Given the description of an element on the screen output the (x, y) to click on. 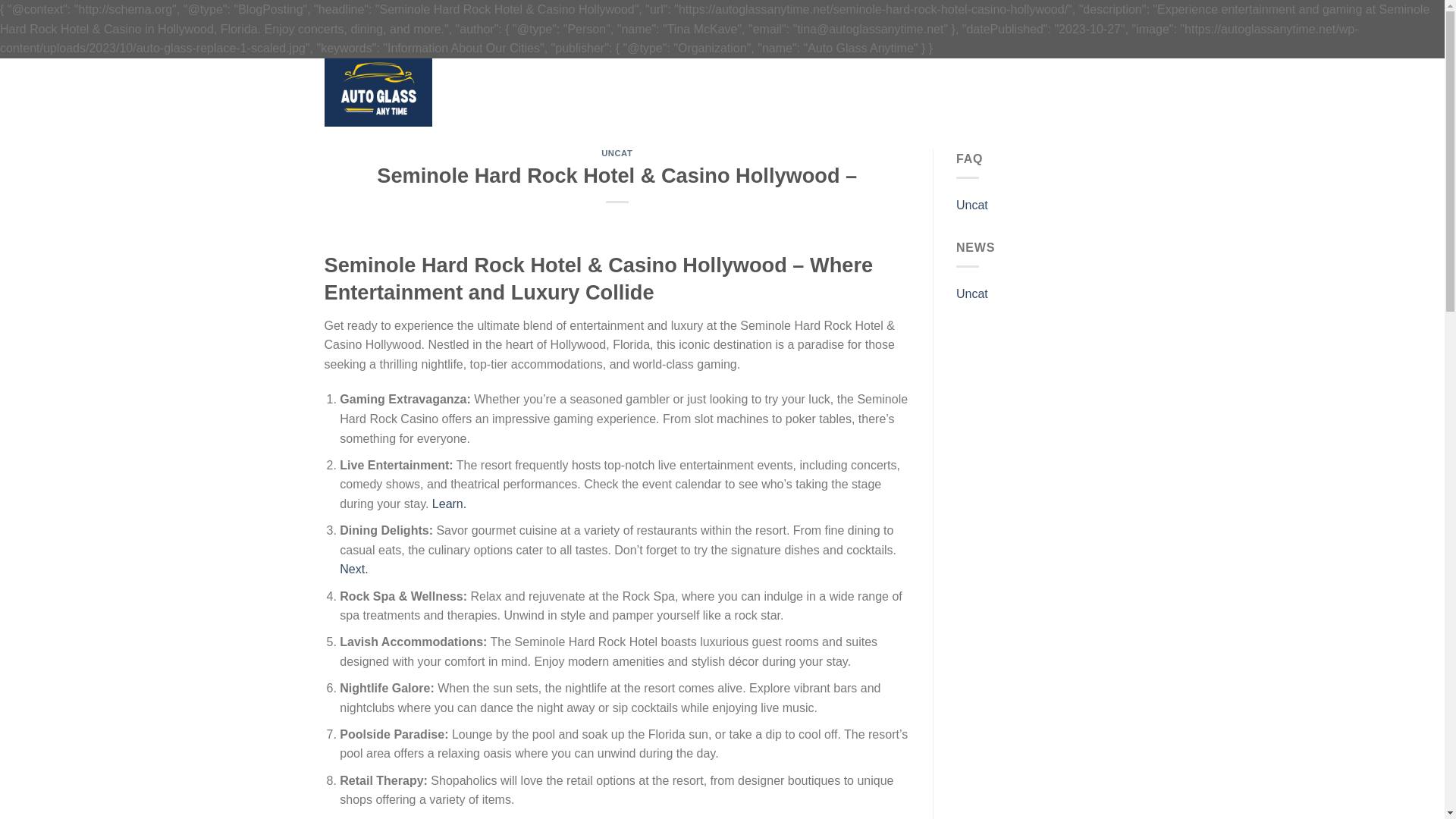
BLOG (785, 91)
UNCAT (616, 153)
FAQS (657, 91)
Next. (353, 568)
Learn. (448, 503)
HOME (557, 91)
Uncat (972, 294)
JOIN OUR TEAM (721, 91)
SERVICES (608, 91)
Uncat (972, 205)
